Given the description of an element on the screen output the (x, y) to click on. 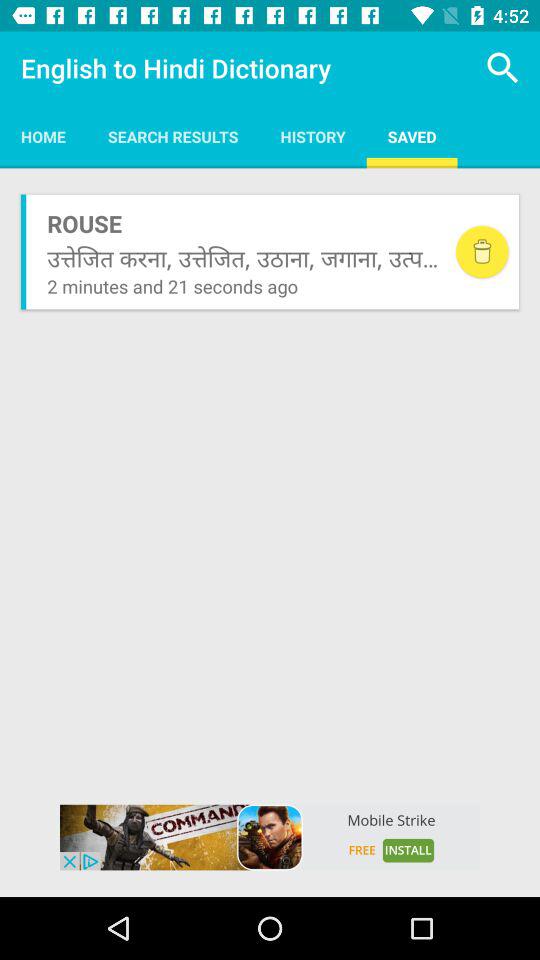
click on advertisement (270, 837)
